Given the description of an element on the screen output the (x, y) to click on. 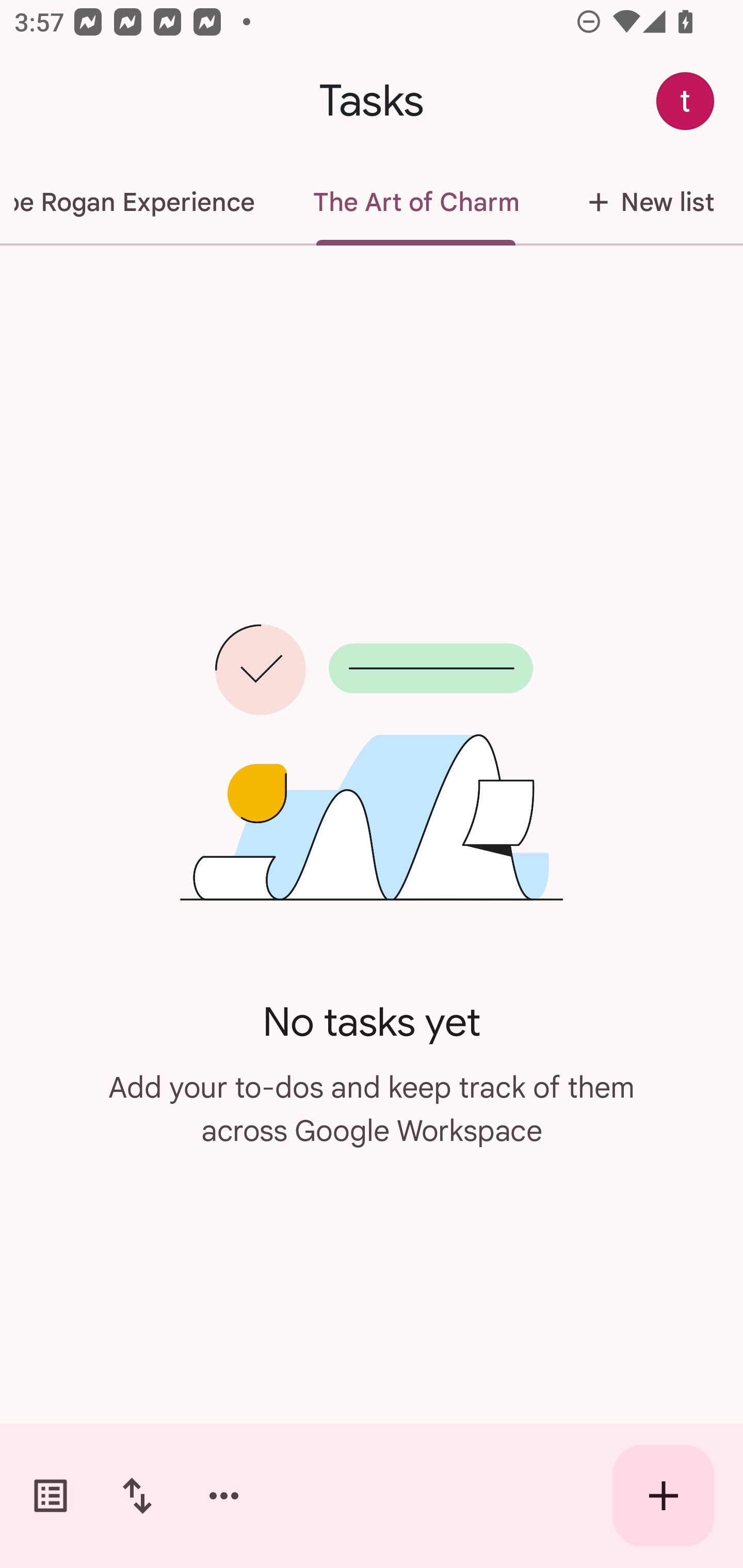
The Joe Rogan Experience (141, 202)
New list (645, 202)
Switch task lists (50, 1495)
Create new task (663, 1495)
Change sort order (136, 1495)
More options (223, 1495)
